Given the description of an element on the screen output the (x, y) to click on. 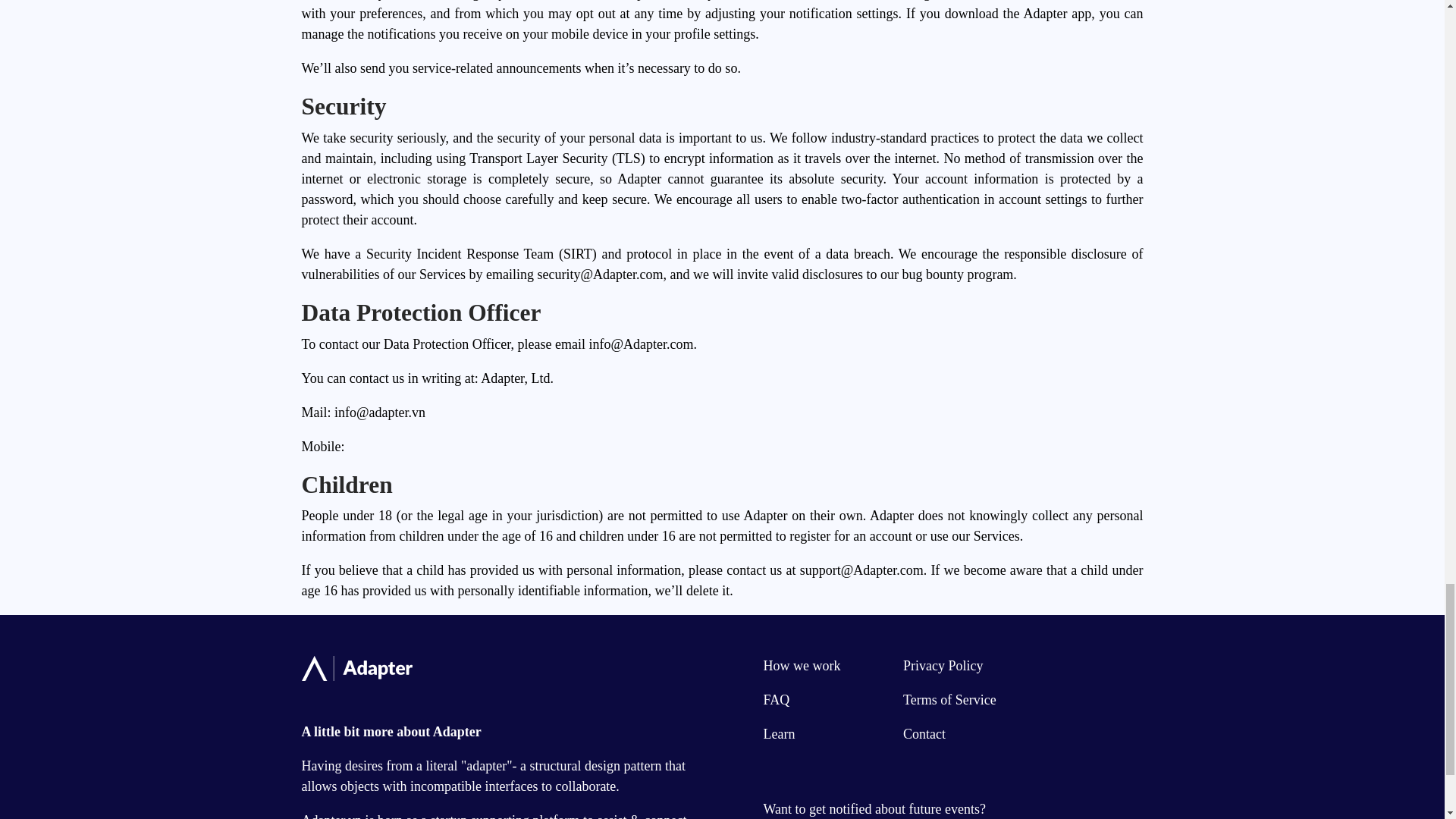
FAQ (775, 699)
Learn (778, 734)
Privacy Policy (943, 665)
How we work (801, 665)
Contact (923, 734)
Terms of Service (948, 699)
